Given the description of an element on the screen output the (x, y) to click on. 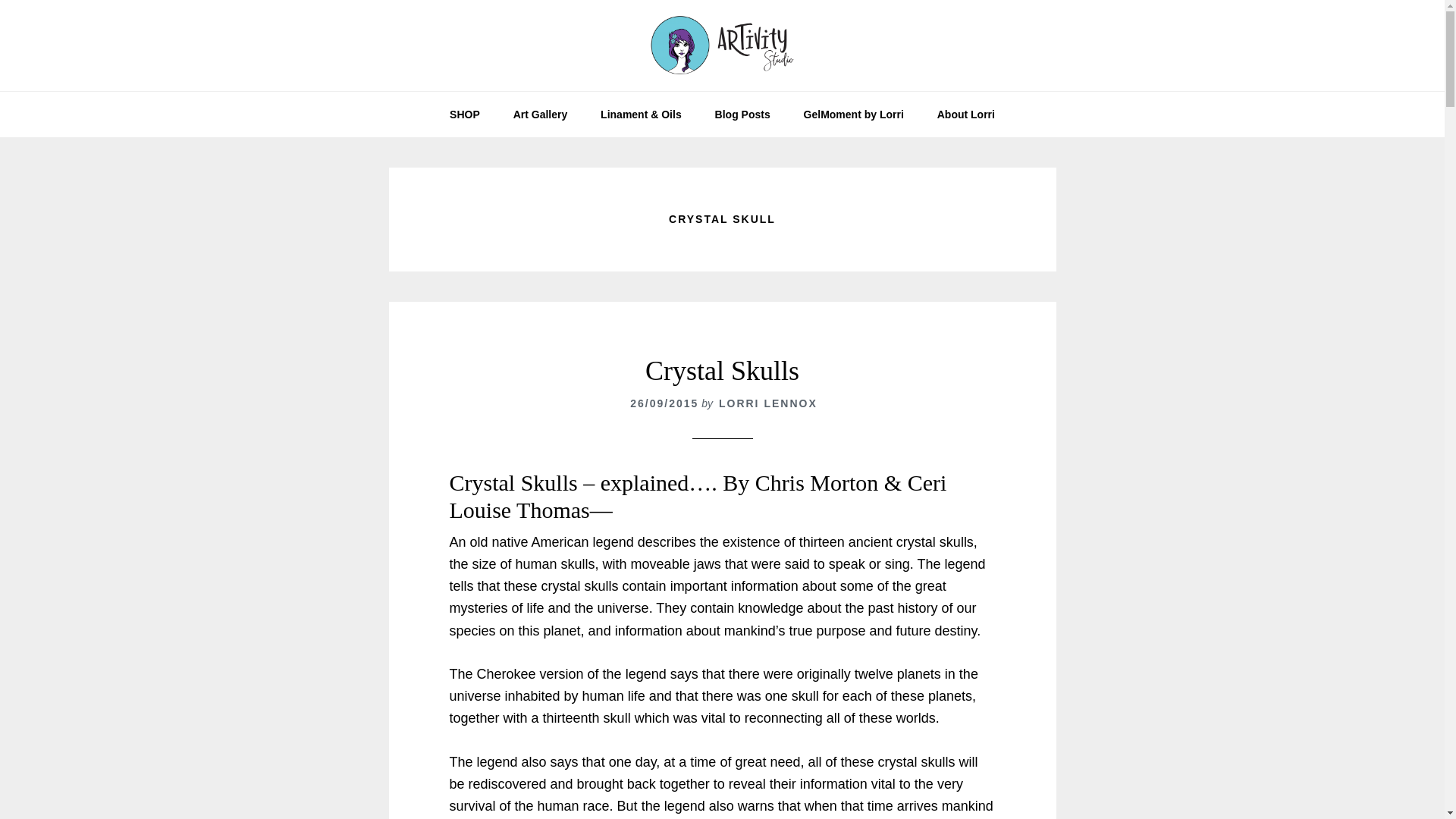
About Lorri (965, 114)
Crystal Skulls (722, 370)
Art Gallery (540, 114)
SHOP (464, 114)
Blog Posts (743, 114)
Lorri Lennox.com (721, 45)
LORRI LENNOX (767, 403)
GelMoment by Lorri (853, 114)
